Given the description of an element on the screen output the (x, y) to click on. 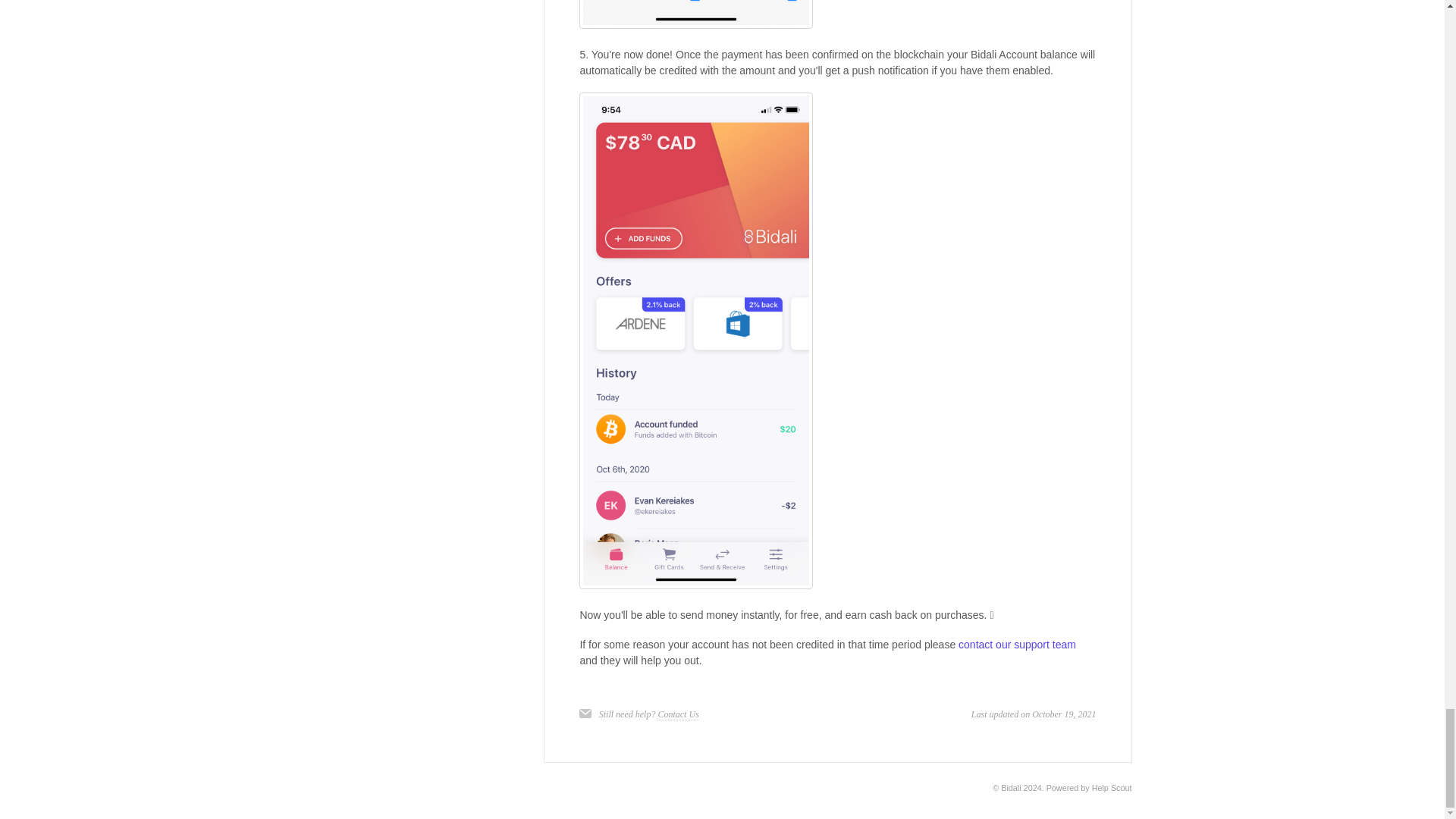
contact our support team (1016, 644)
Bidali (1010, 787)
Contact Us (678, 714)
Help Scout (1112, 787)
